Given the description of an element on the screen output the (x, y) to click on. 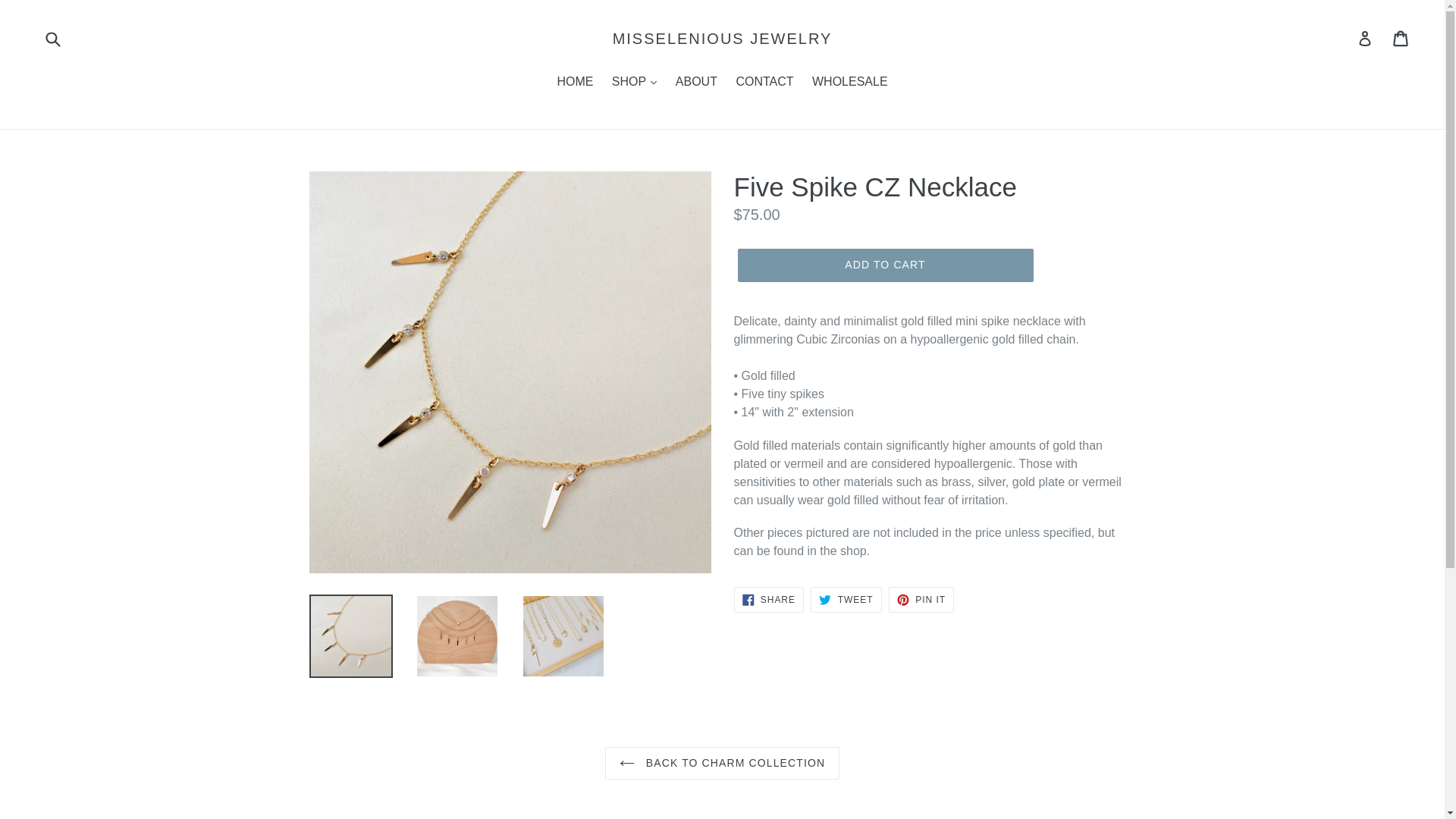
CONTACT (764, 82)
MISSELENIOUS JEWELRY (722, 38)
ABOUT (696, 82)
Pin on Pinterest (920, 599)
Tweet on Twitter (845, 599)
Share on Facebook (768, 599)
HOME (573, 82)
